Given the description of an element on the screen output the (x, y) to click on. 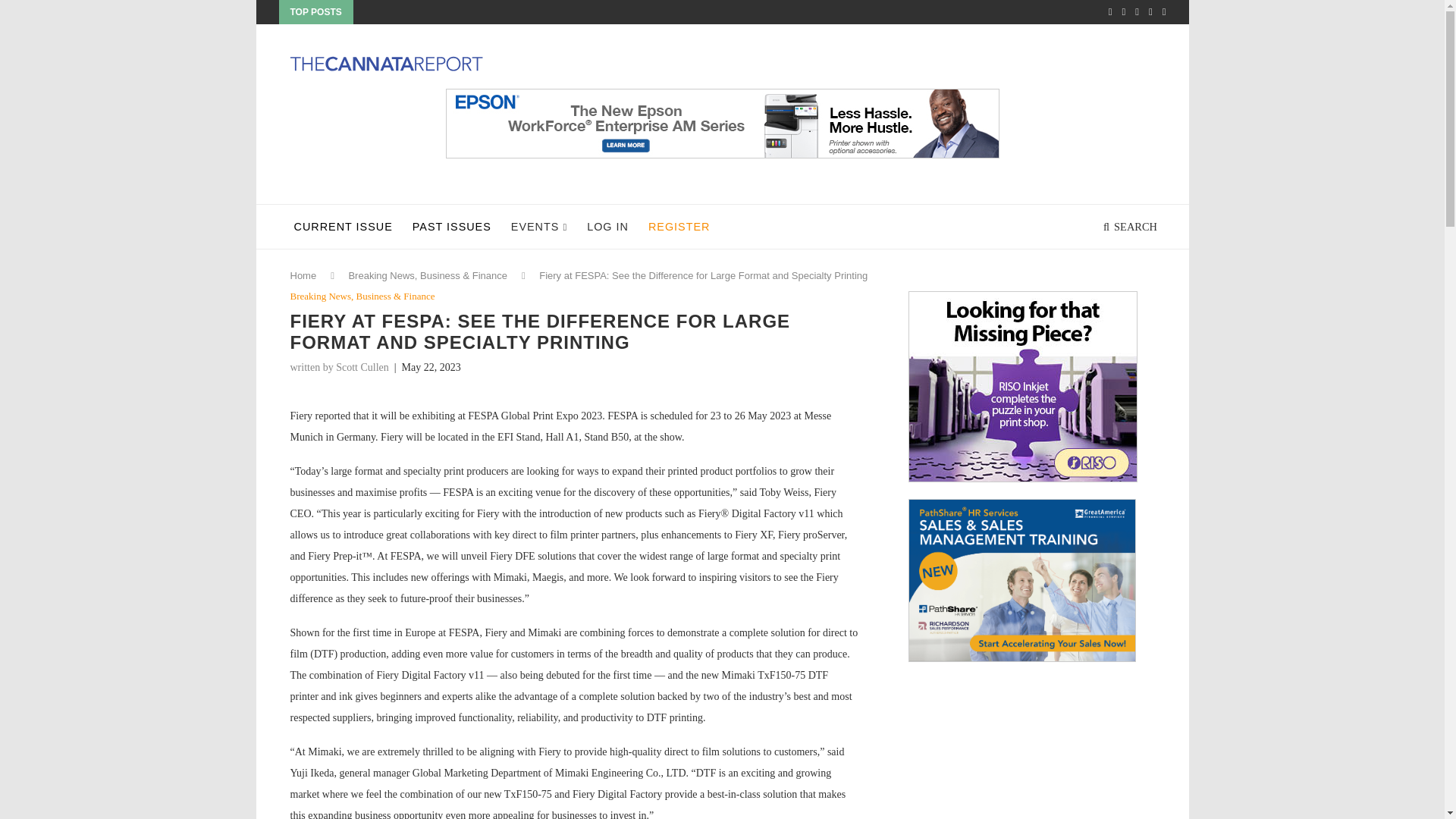
PAST ISSUES (452, 226)
CURRENT ISSUE (343, 226)
EVENTS (539, 226)
